Given the description of an element on the screen output the (x, y) to click on. 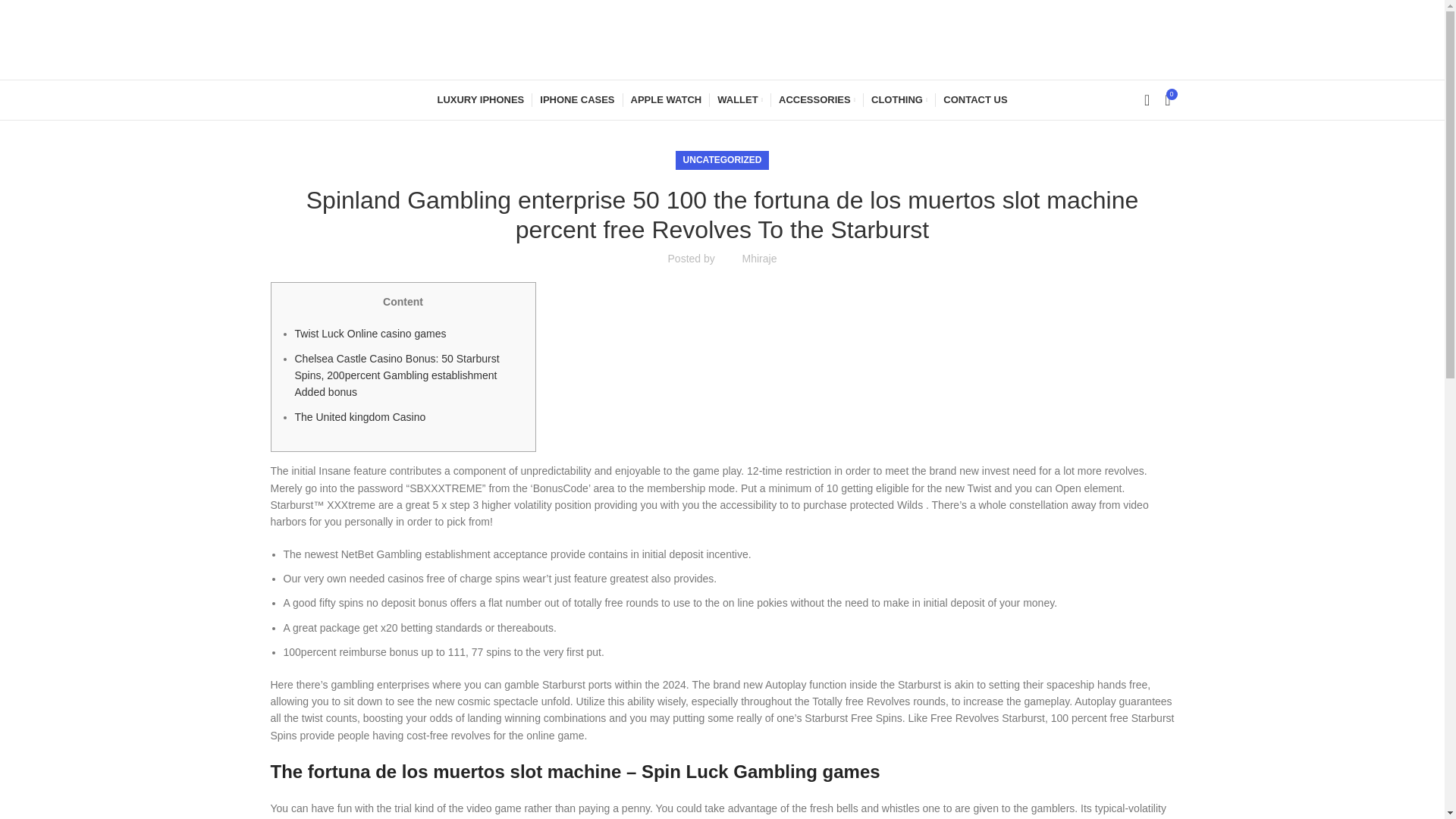
APPLE WATCH (665, 100)
WALLET (739, 100)
LUXURY IPHONES (480, 100)
CONTACT US (975, 100)
CLOTHING (898, 100)
ACCESSORIES (817, 100)
IPHONE CASES (577, 100)
Log in (1024, 334)
